Given the description of an element on the screen output the (x, y) to click on. 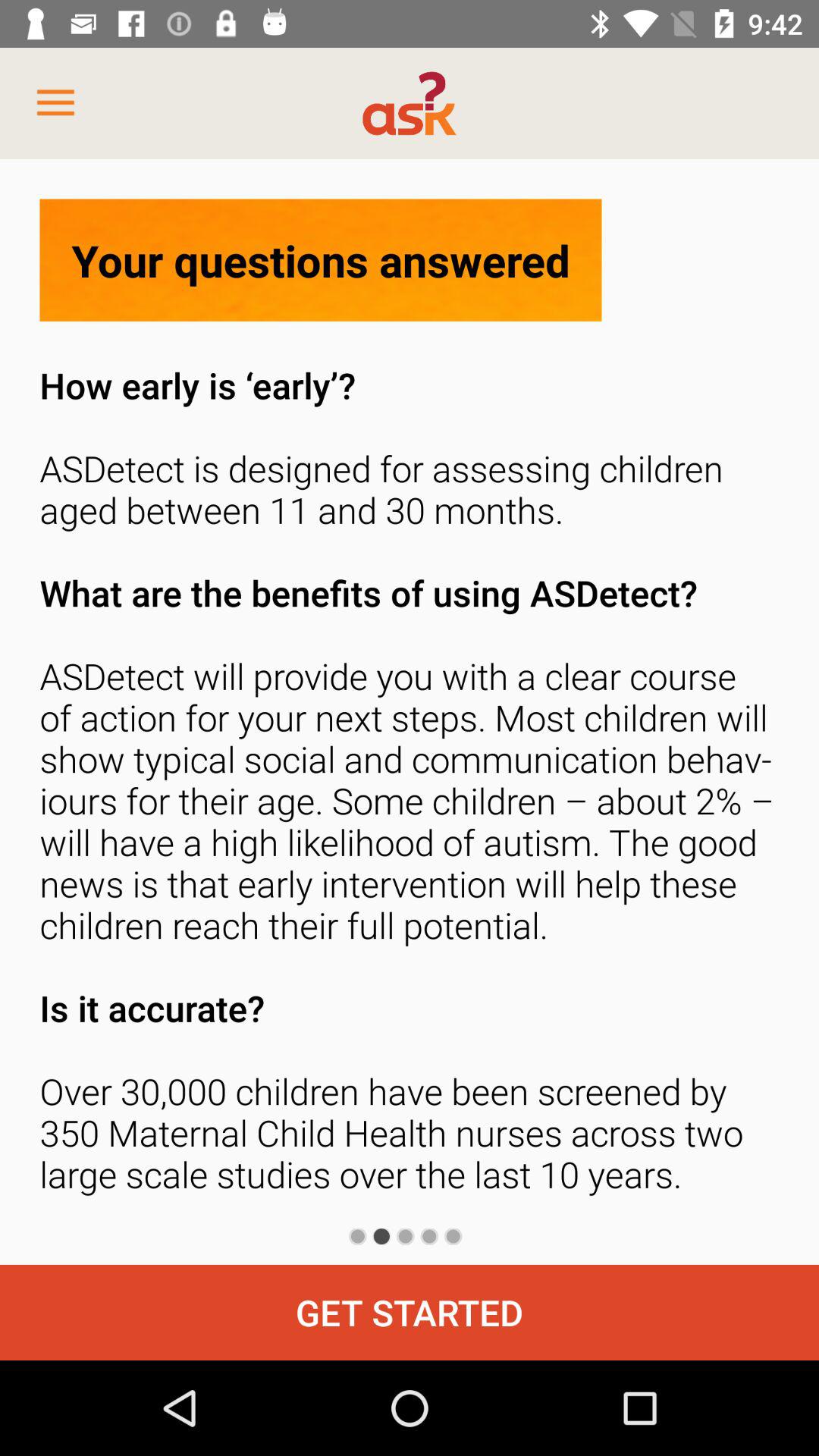
select the get started icon (409, 1312)
